Given the description of an element on the screen output the (x, y) to click on. 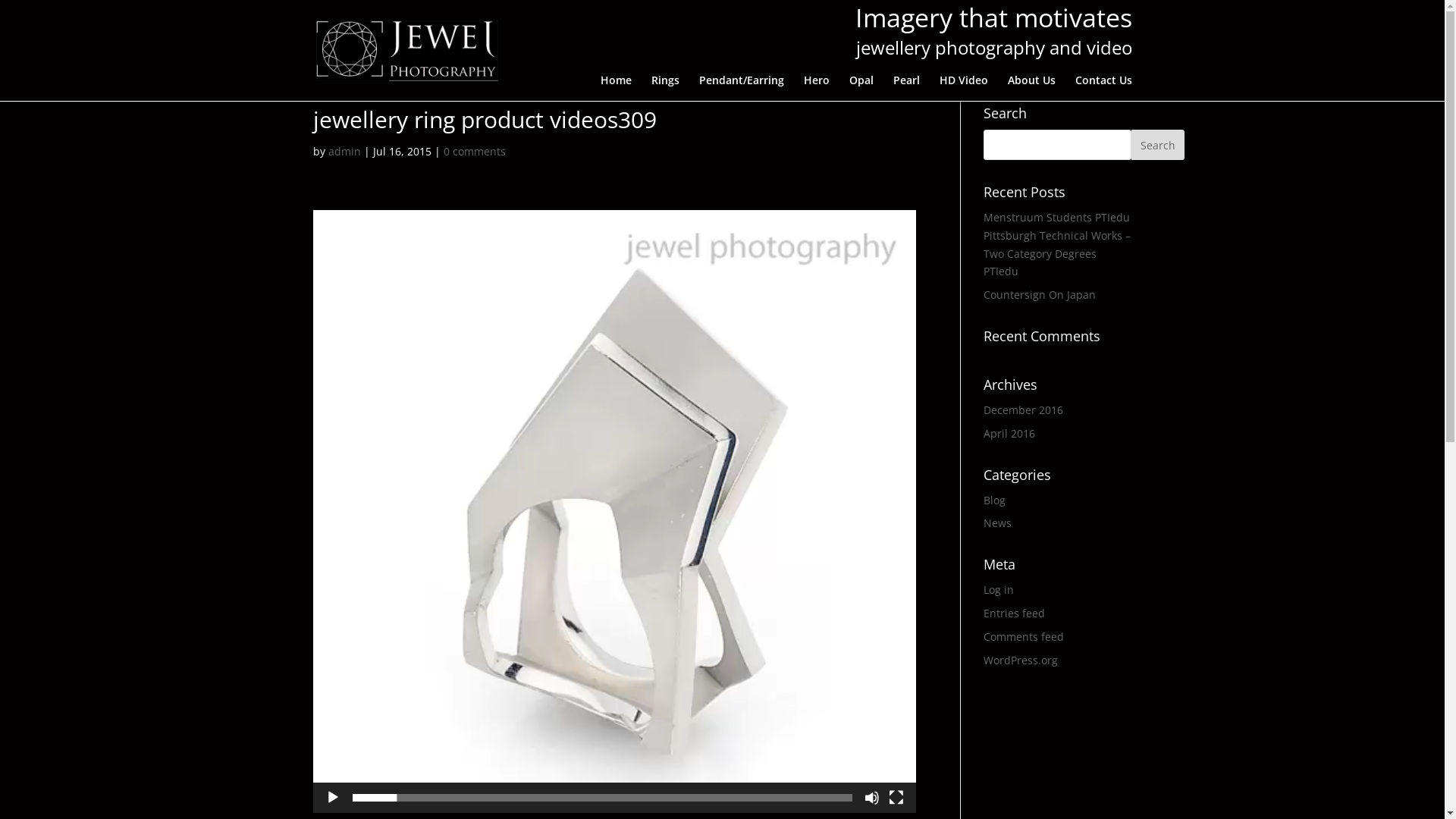
HD Video Element type: text (962, 87)
Blog Element type: text (994, 499)
Pearl Element type: text (906, 87)
Fullscreen Element type: hover (895, 797)
admin Element type: text (343, 151)
Opal Element type: text (861, 87)
Pendant/Earring Element type: text (741, 87)
0 comments Element type: text (473, 151)
Log in Element type: text (998, 589)
Mute Element type: hover (871, 797)
Comments feed Element type: text (1023, 636)
About Us Element type: text (1030, 87)
April 2016 Element type: text (1009, 433)
Rings Element type: text (664, 87)
Home Element type: text (615, 87)
Countersign On Japan Element type: text (1039, 294)
Contact Us Element type: text (1103, 87)
Hero Element type: text (816, 87)
Play Element type: hover (331, 797)
December 2016 Element type: text (1023, 409)
Entries feed Element type: text (1013, 612)
News Element type: text (997, 522)
Search Element type: text (1157, 144)
WordPress.org Element type: text (1020, 659)
